Given the description of an element on the screen output the (x, y) to click on. 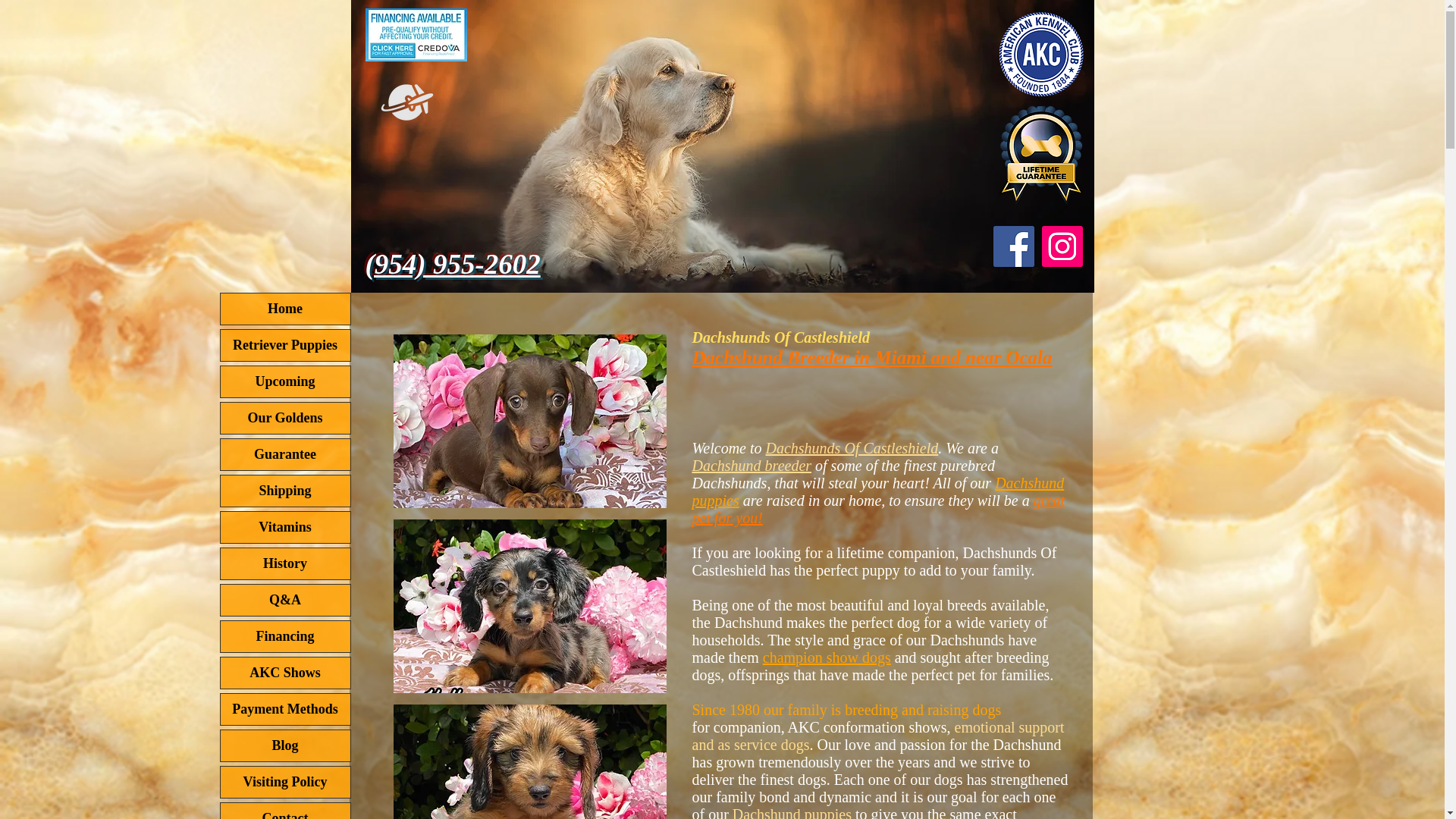
Dachshund breeder (750, 465)
Dachshund Breeder in Miami and near Ocala (871, 356)
Dachshund puppies (791, 812)
Dachshunds Of Castleshield (780, 337)
Dachshund puppies (877, 491)
Dachshunds Of Castleshield (852, 447)
champion show dogs (826, 657)
